Given the description of an element on the screen output the (x, y) to click on. 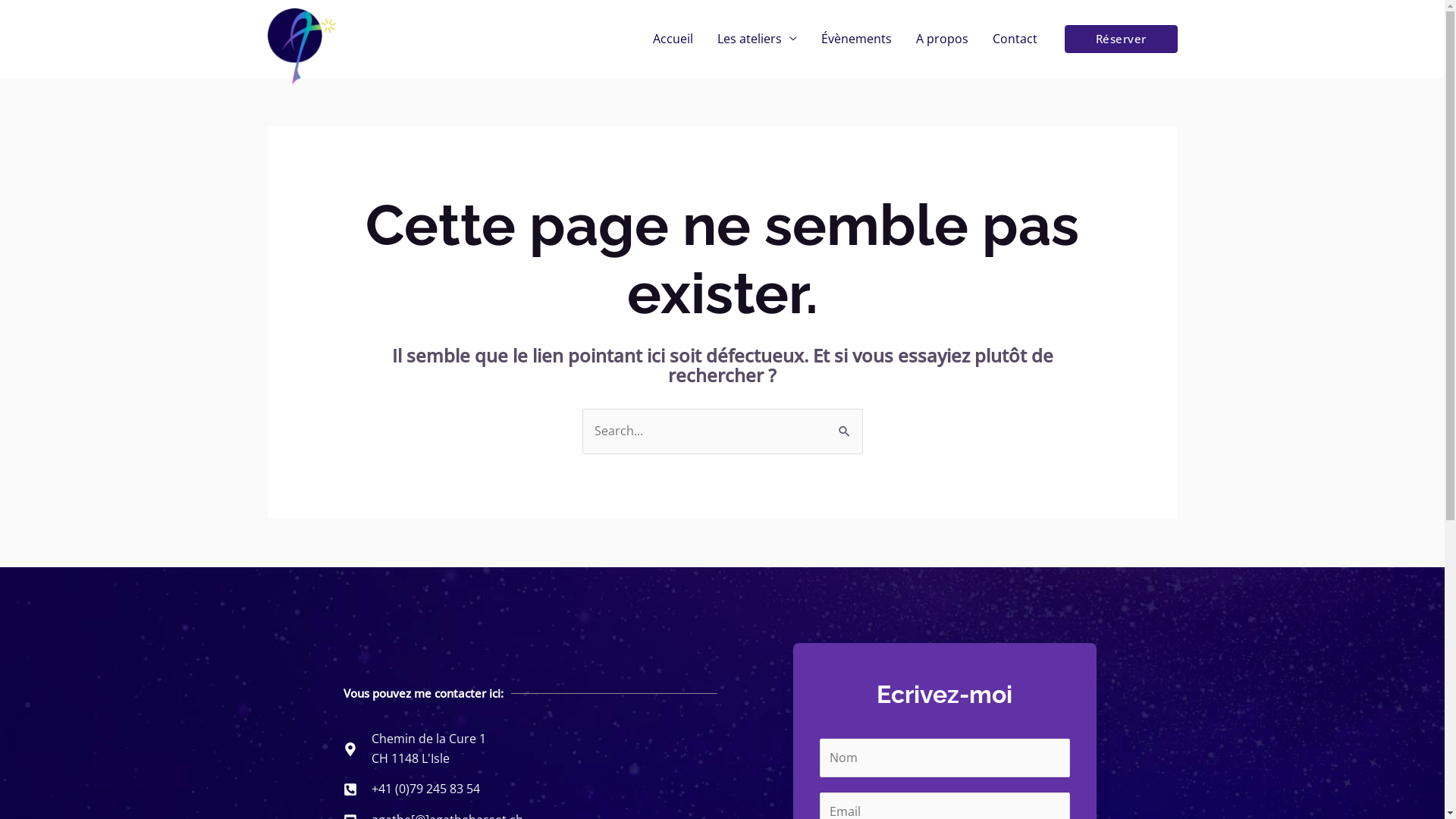
A propos Element type: text (941, 38)
Contact Element type: text (1013, 38)
Accueil Element type: text (672, 38)
Rechercher Element type: text (845, 423)
Les ateliers Element type: text (757, 38)
Chemin de la Cure 1
CH 1148 L'Isle Element type: text (453, 748)
+41 (0)79 245 83 54 Element type: text (453, 789)
